Given the description of an element on the screen output the (x, y) to click on. 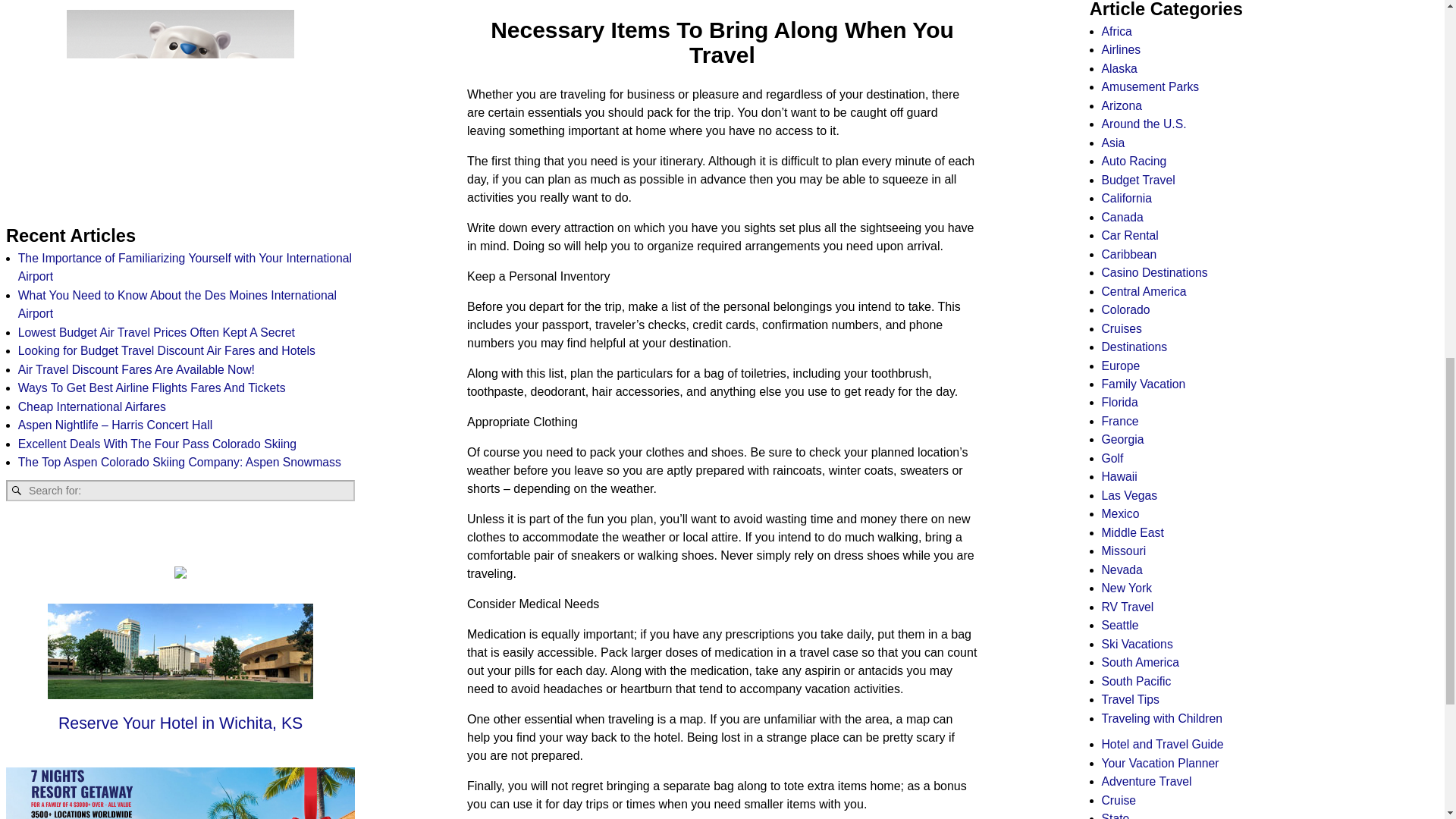
Reserve Your Hotel in Wichita, KS (180, 724)
Ways To Get Best Airline Flights Fares And Tickets (151, 387)
Cheap International Airfares (91, 406)
Looking for Budget Travel Discount Air Fares and Hotels (166, 350)
Excellent Deals With The Four Pass Colorado Skiing (157, 443)
Save on your hotel - hotelscombined.com (180, 104)
The Top Aspen Colorado Skiing Company: Aspen Snowmass (178, 461)
Lowest Budget Air Travel Prices Often Kept A Secret (156, 332)
Air Travel Discount Fares Are Available Now! (135, 369)
